Given the description of an element on the screen output the (x, y) to click on. 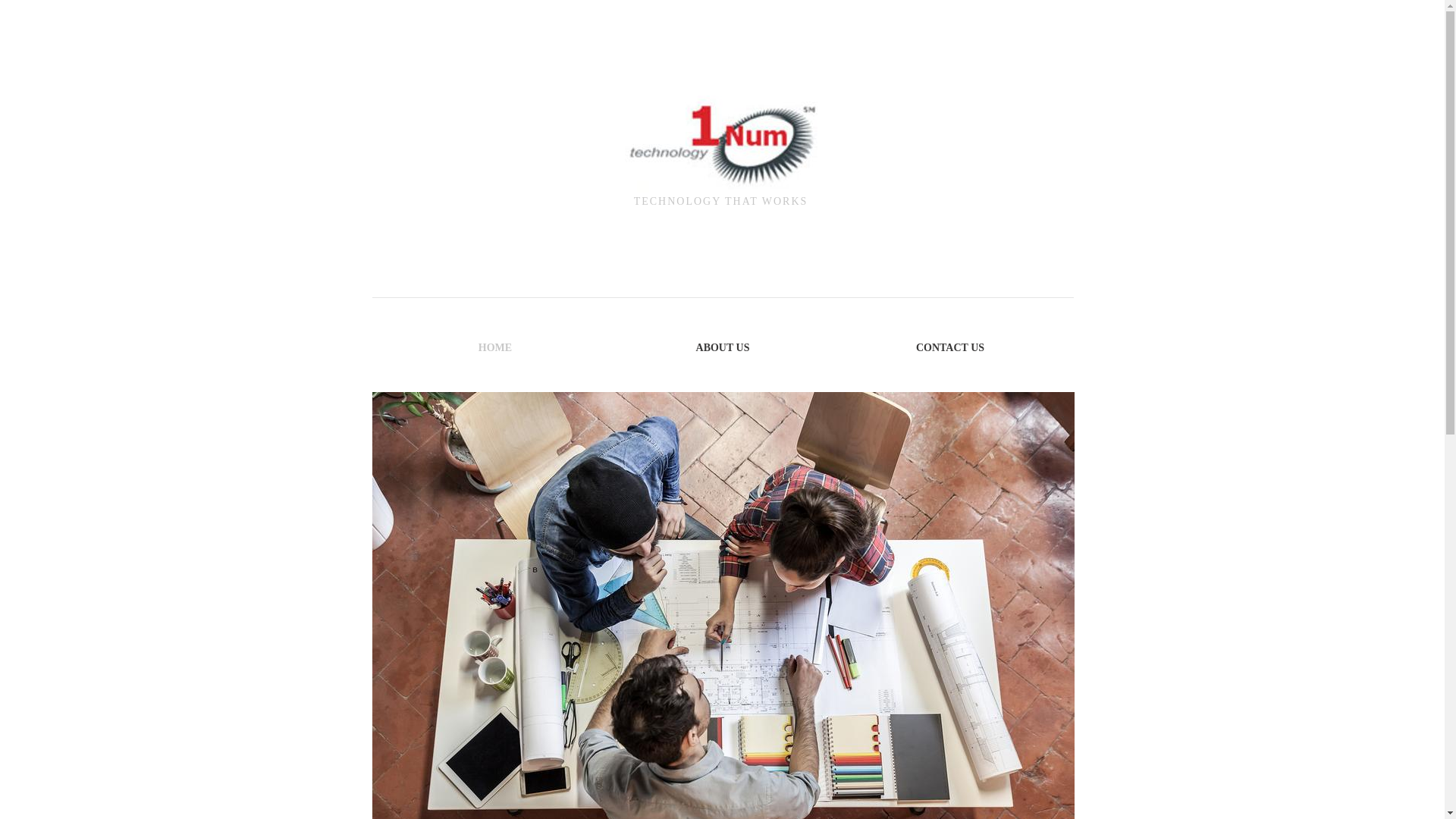
HOME Element type: text (494, 347)
CONTACT US Element type: text (949, 347)
ABOUT US Element type: text (722, 347)
